Given the description of an element on the screen output the (x, y) to click on. 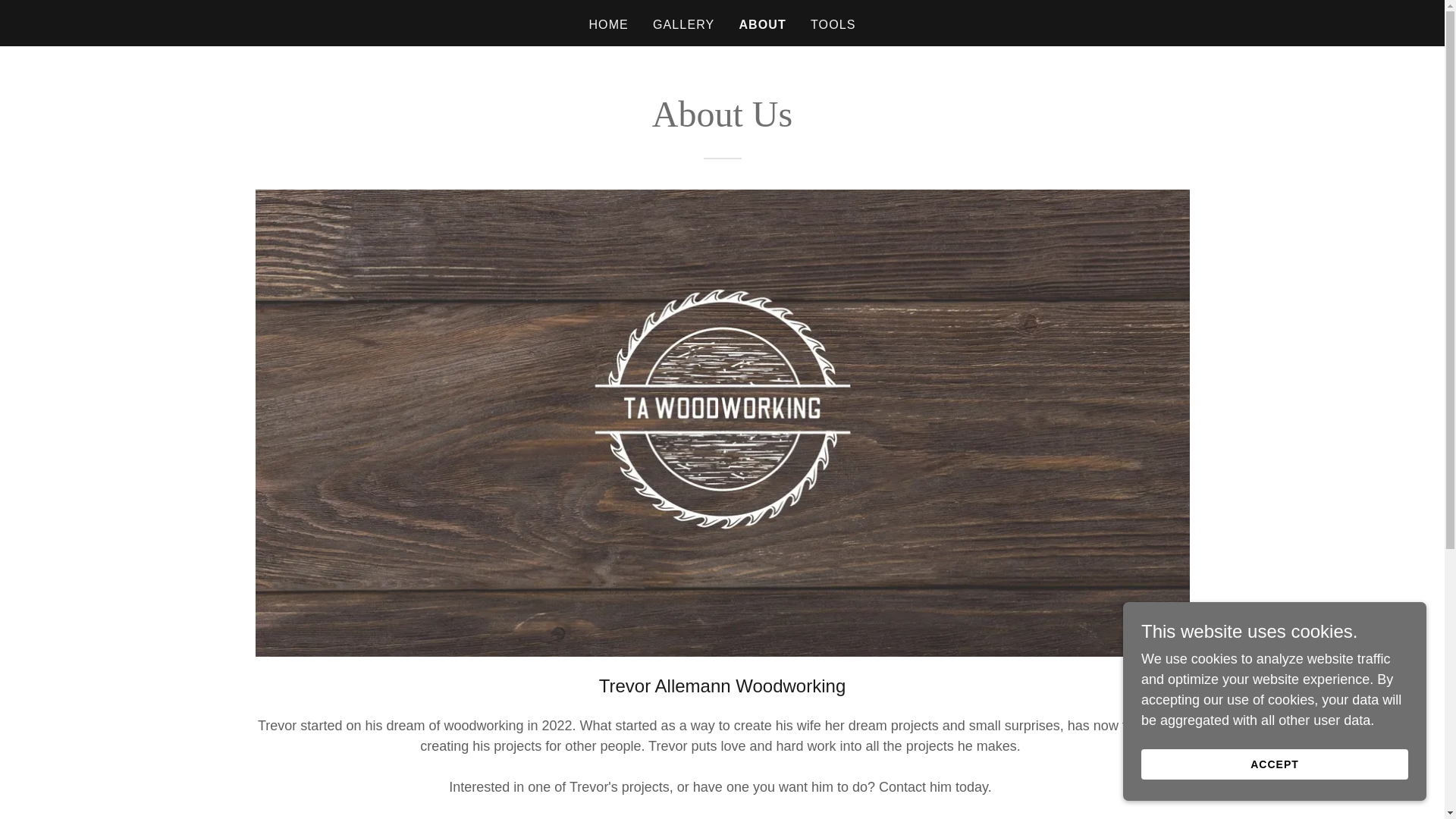
ABOUT (762, 24)
HOME (608, 24)
GALLERY (683, 24)
TOOLS (833, 24)
ACCEPT (1274, 764)
